Given the description of an element on the screen output the (x, y) to click on. 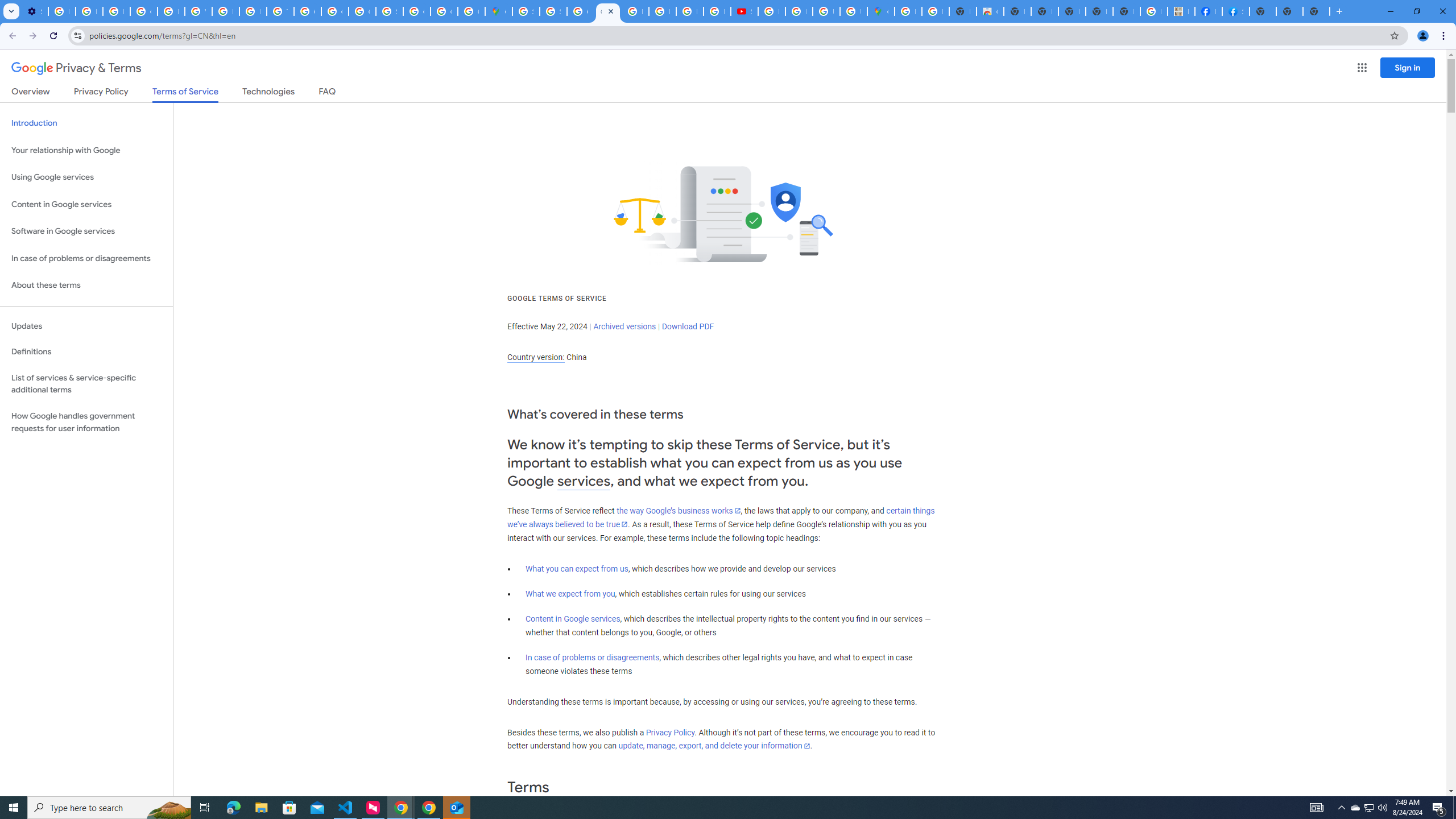
Sign in - Google Accounts (525, 11)
About these terms (86, 284)
Country version: (535, 357)
Using Google services (86, 176)
What you can expect from us (576, 568)
New Tab (1262, 11)
